Given the description of an element on the screen output the (x, y) to click on. 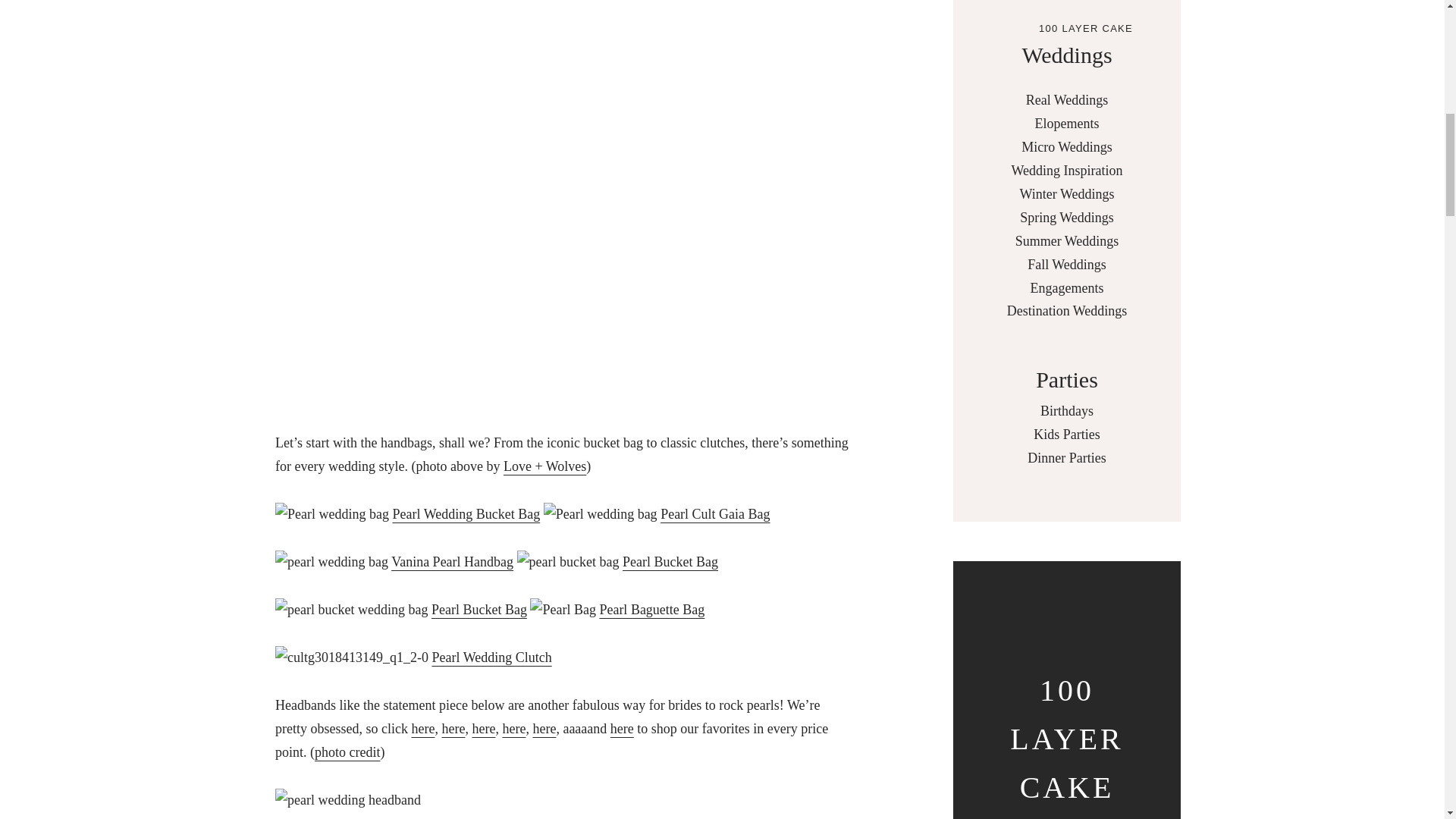
Pearl Cult Gaia Bag (715, 513)
Pearl Baguette Bag (651, 609)
Vanina Pearl Handbag (452, 561)
Pearl Wedding Bucket Bag (465, 513)
Pearl Bucket Bag (670, 561)
Pearl Wedding Clutch (491, 657)
Pearl Bucket Bag (478, 609)
